Given the description of an element on the screen output the (x, y) to click on. 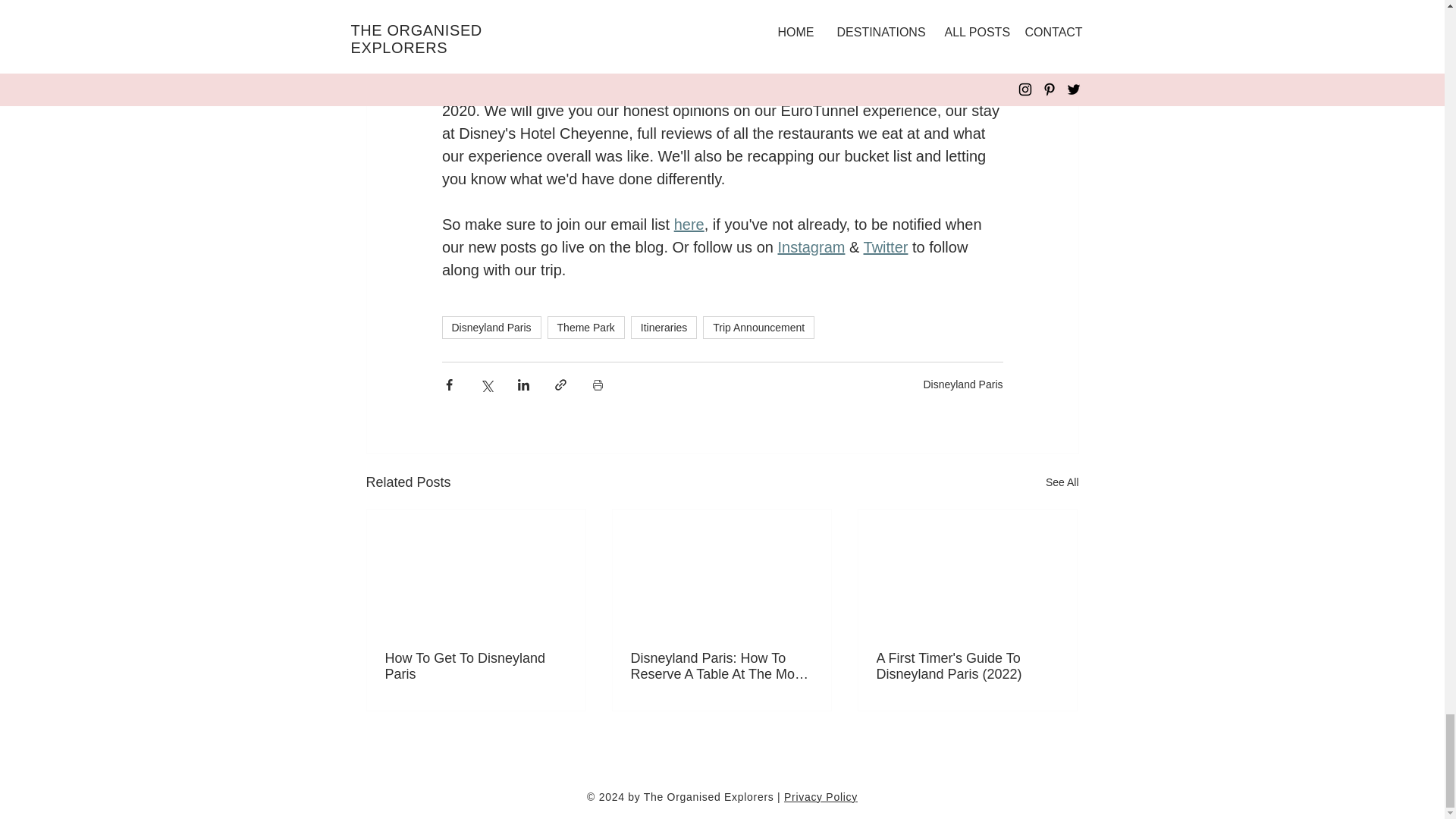
here (687, 224)
Trip Announcement (758, 327)
full trip report (910, 64)
Disneyland Paris (490, 327)
How To Get To Disneyland Paris (476, 666)
Twitter (885, 247)
See All (1061, 482)
Itineraries (663, 327)
Theme Park (585, 327)
